Given the description of an element on the screen output the (x, y) to click on. 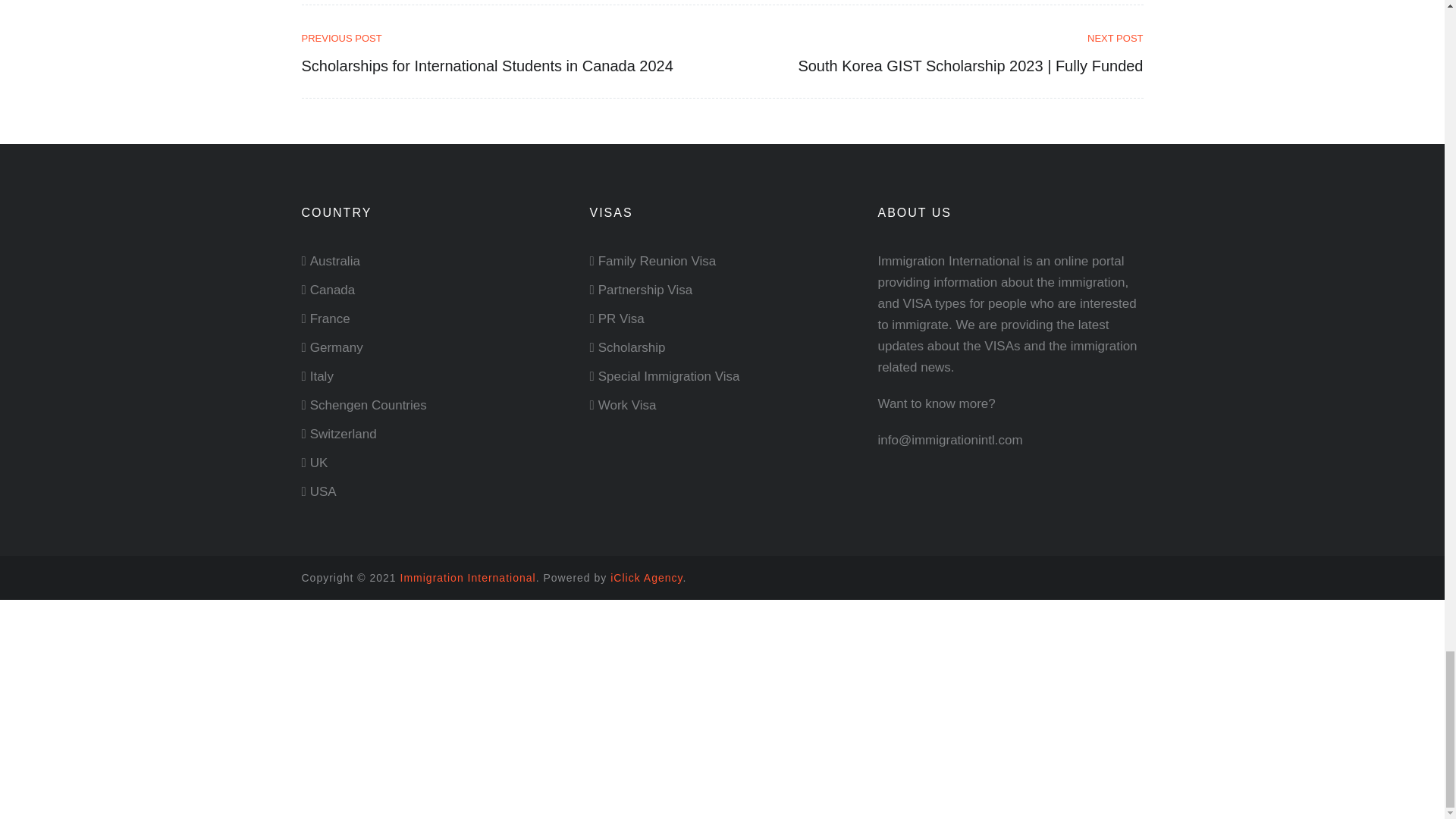
PREVIOUS POST (506, 38)
Scholarships for International Students in Canada 2024 (506, 38)
